Given the description of an element on the screen output the (x, y) to click on. 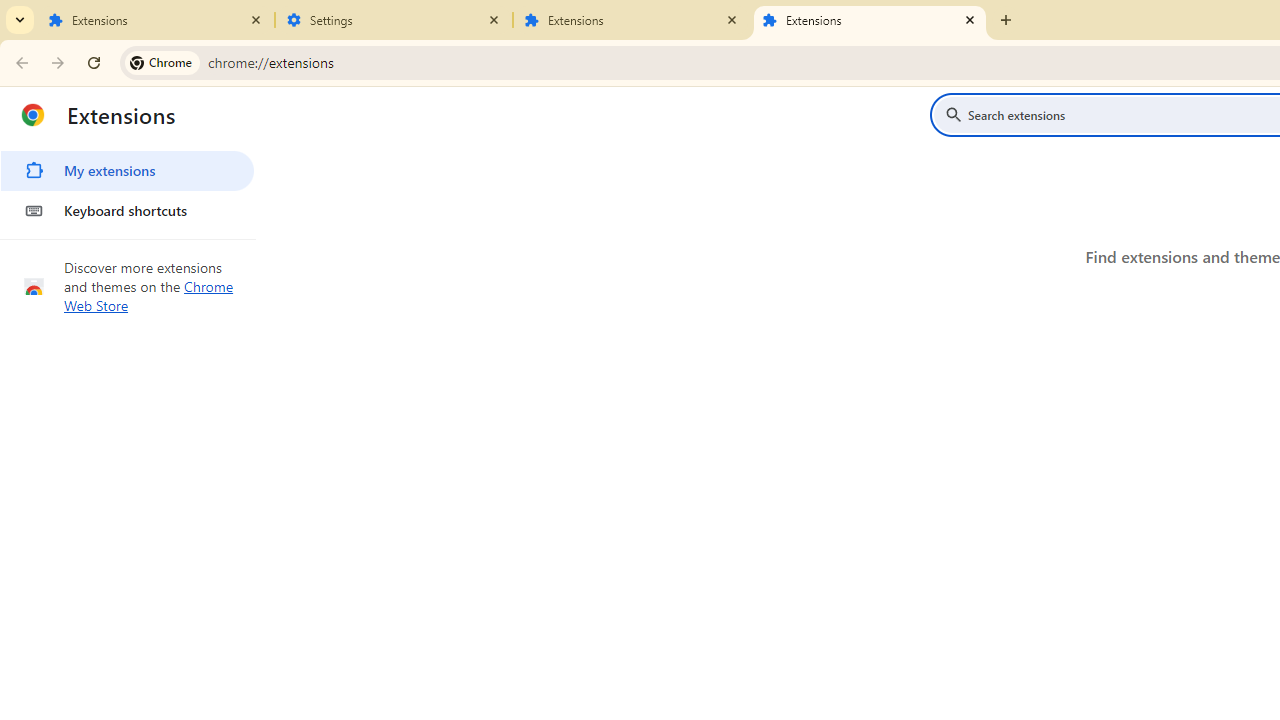
Extensions (870, 20)
Extensions (632, 20)
Extensions (156, 20)
Chrome Web Store (149, 296)
Settings (394, 20)
Keyboard shortcuts (127, 210)
